Given the description of an element on the screen output the (x, y) to click on. 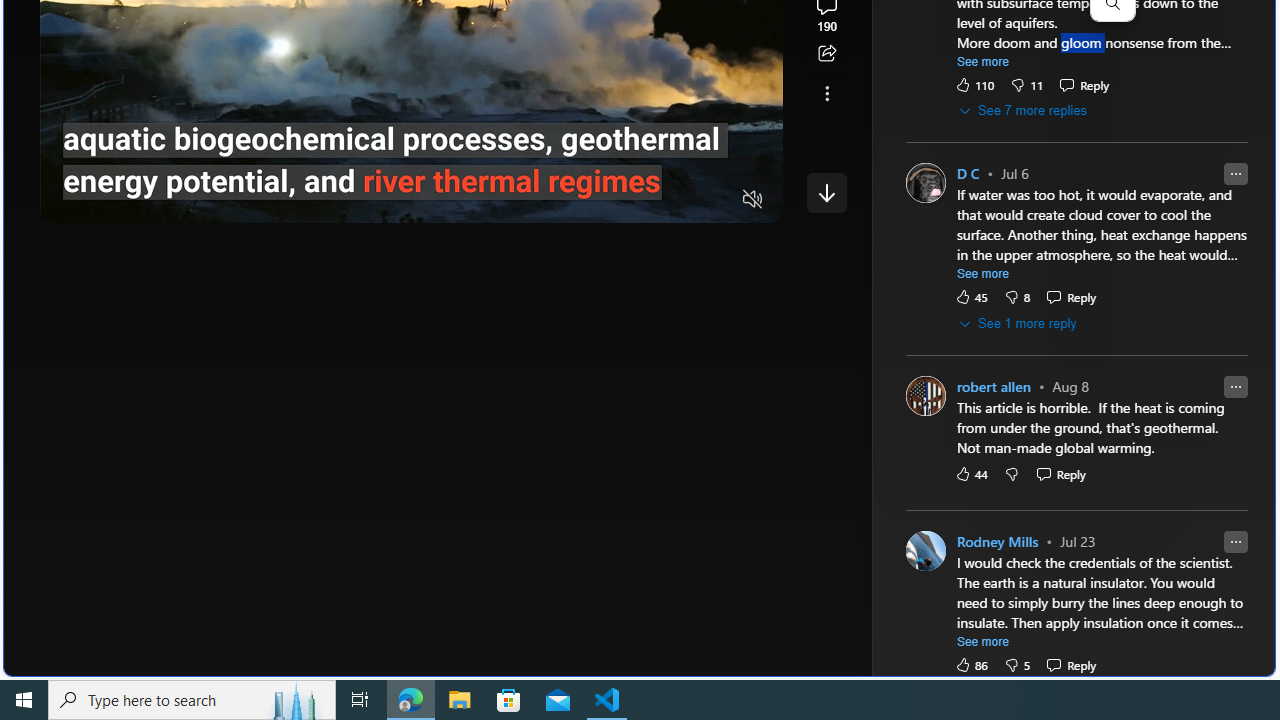
See 1 more reply (1018, 323)
Report comment (1235, 540)
Pause (69, 200)
robert allen (993, 385)
Share this story (826, 53)
Progress Bar (411, 174)
Captions (675, 200)
Forge of Empires (1025, 337)
